Given the description of an element on the screen output the (x, y) to click on. 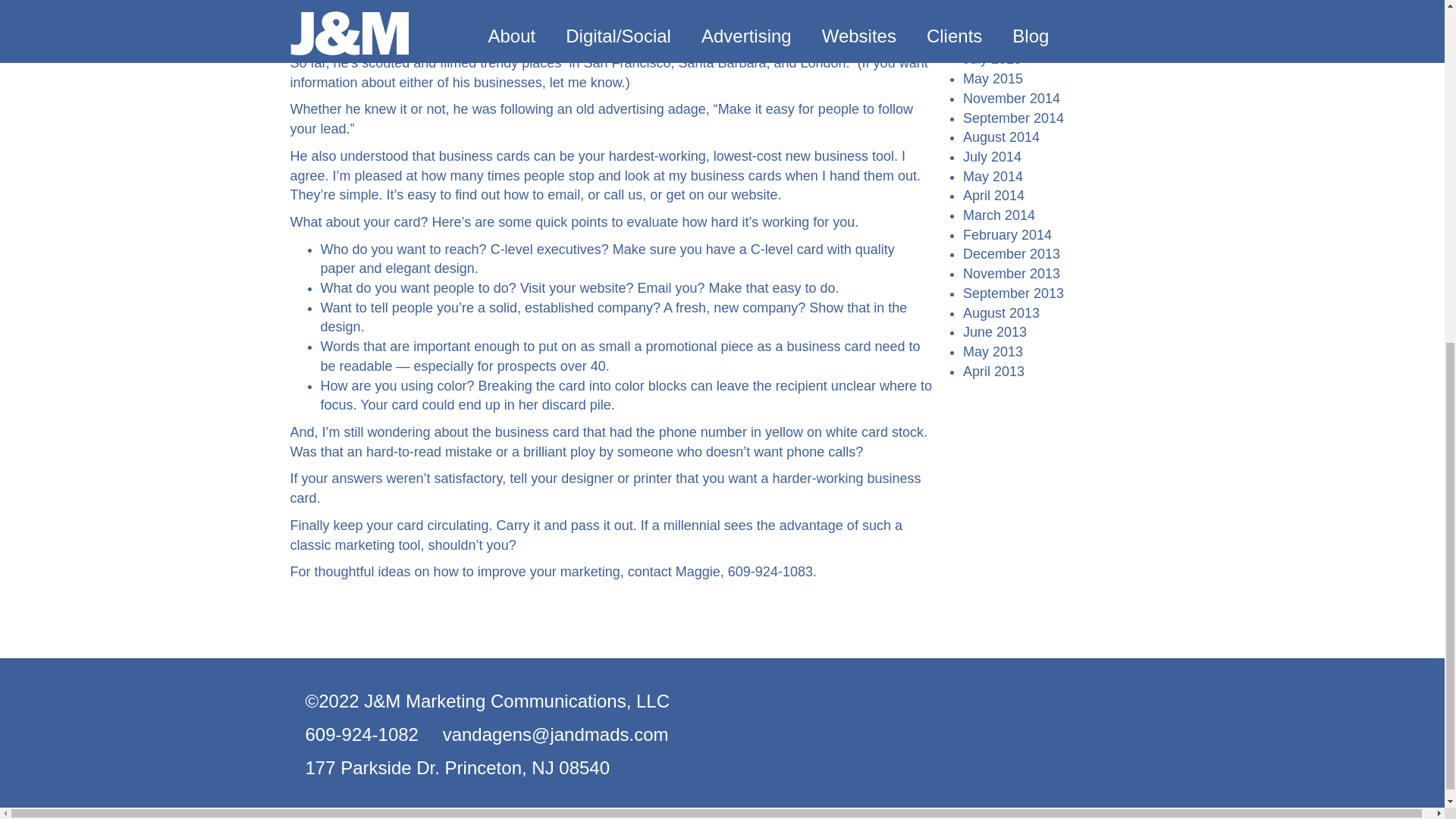
October 2015 (1003, 39)
September 2014 (1013, 118)
website (753, 194)
July 2015 (992, 58)
Maggie (697, 571)
November 2014 (1010, 98)
609-924-1083 (770, 571)
August 2014 (1000, 136)
May 2015 (992, 78)
November 2015 (1010, 20)
